Given the description of an element on the screen output the (x, y) to click on. 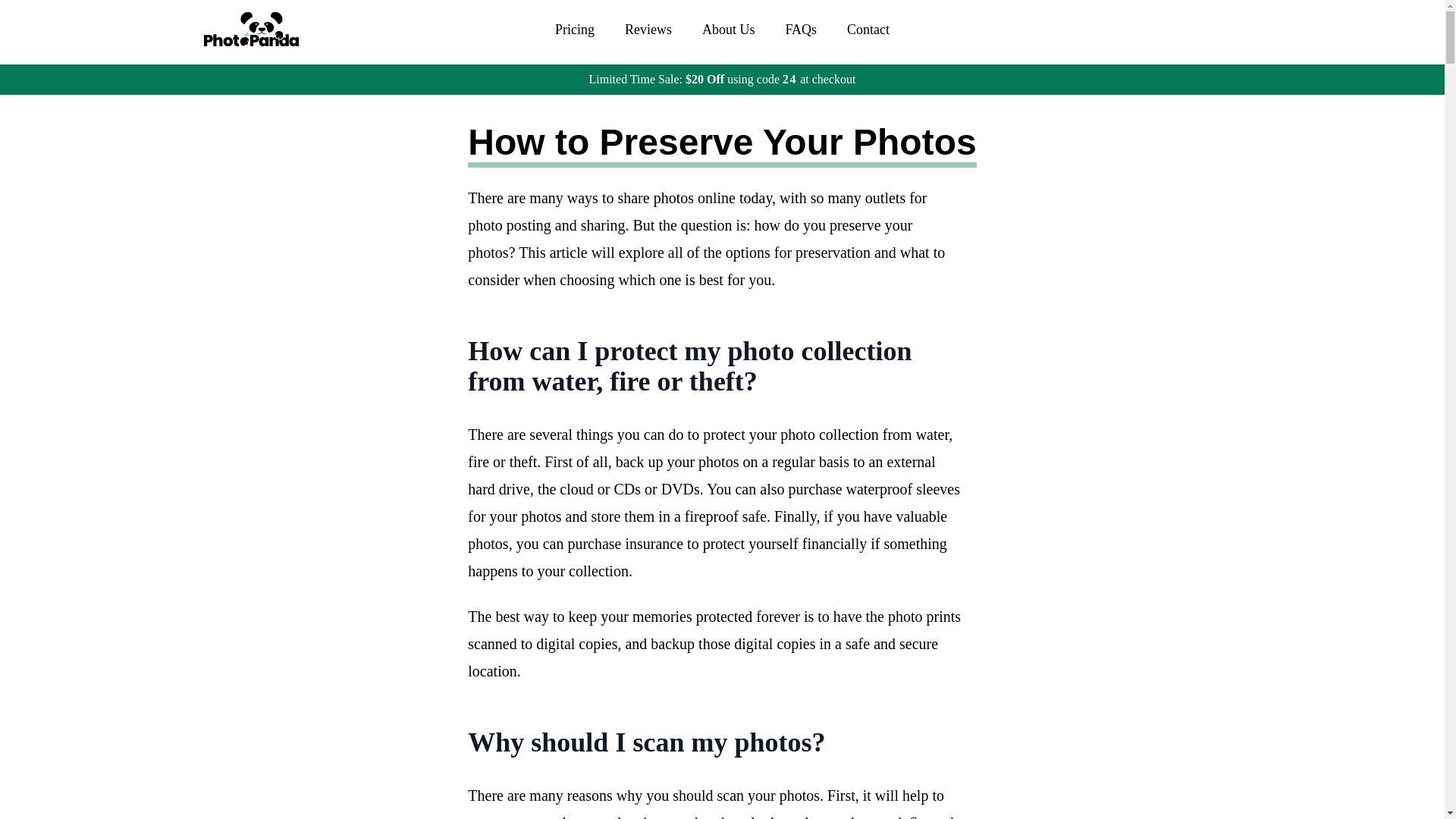
FAQs (800, 28)
About Us (728, 28)
Reviews (647, 28)
Pricing (574, 28)
Contact (868, 28)
